Given the description of an element on the screen output the (x, y) to click on. 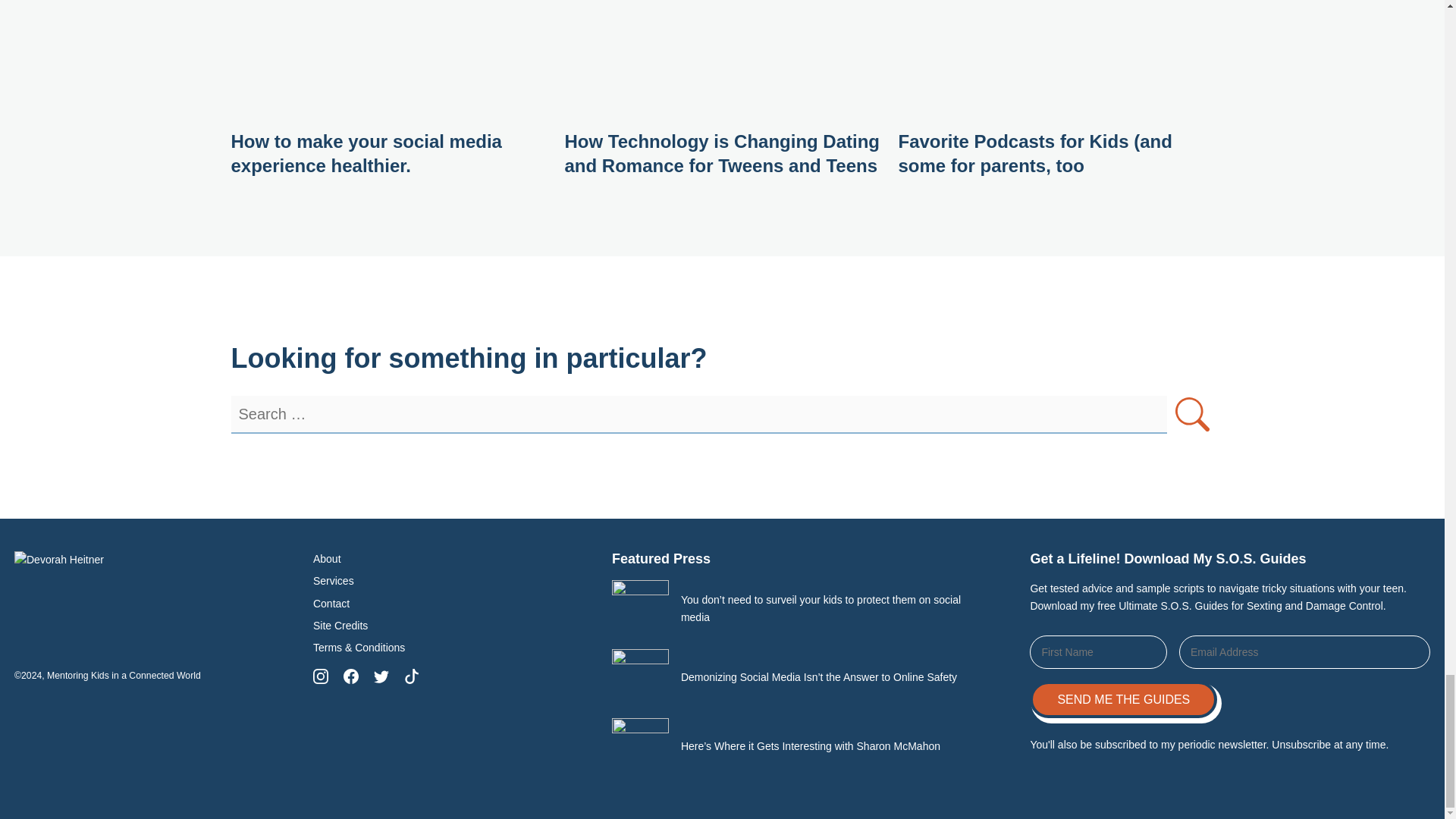
Search for: (698, 414)
How to make your social media experience healthier. (365, 153)
